Given the description of an element on the screen output the (x, y) to click on. 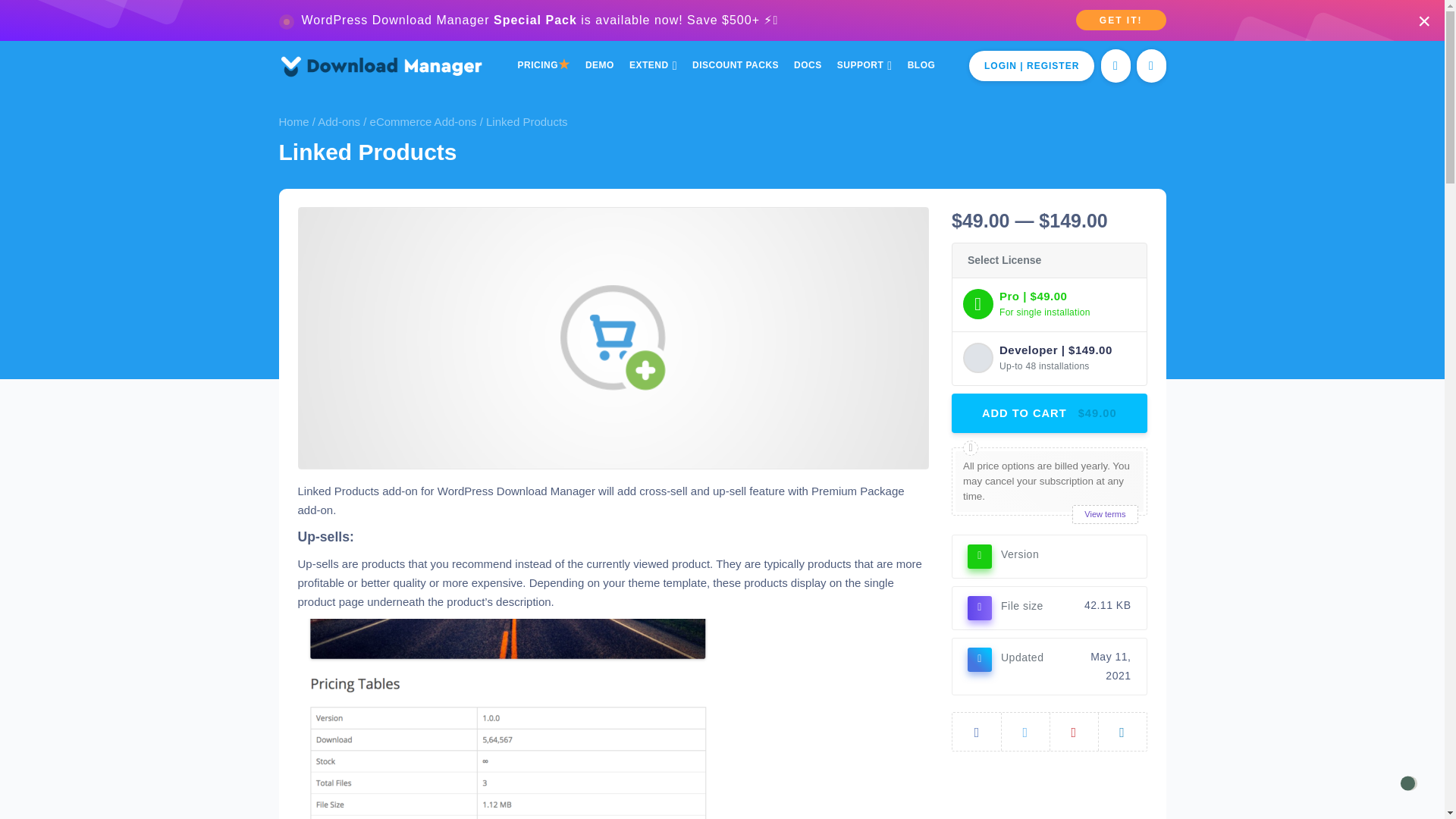
SUPPORT (864, 65)
Special Pack (534, 19)
DEMO (599, 65)
EXTEND (652, 65)
PRICING (544, 65)
DISCOUNT PACKS (735, 65)
GET IT! (1120, 19)
